Given the description of an element on the screen output the (x, y) to click on. 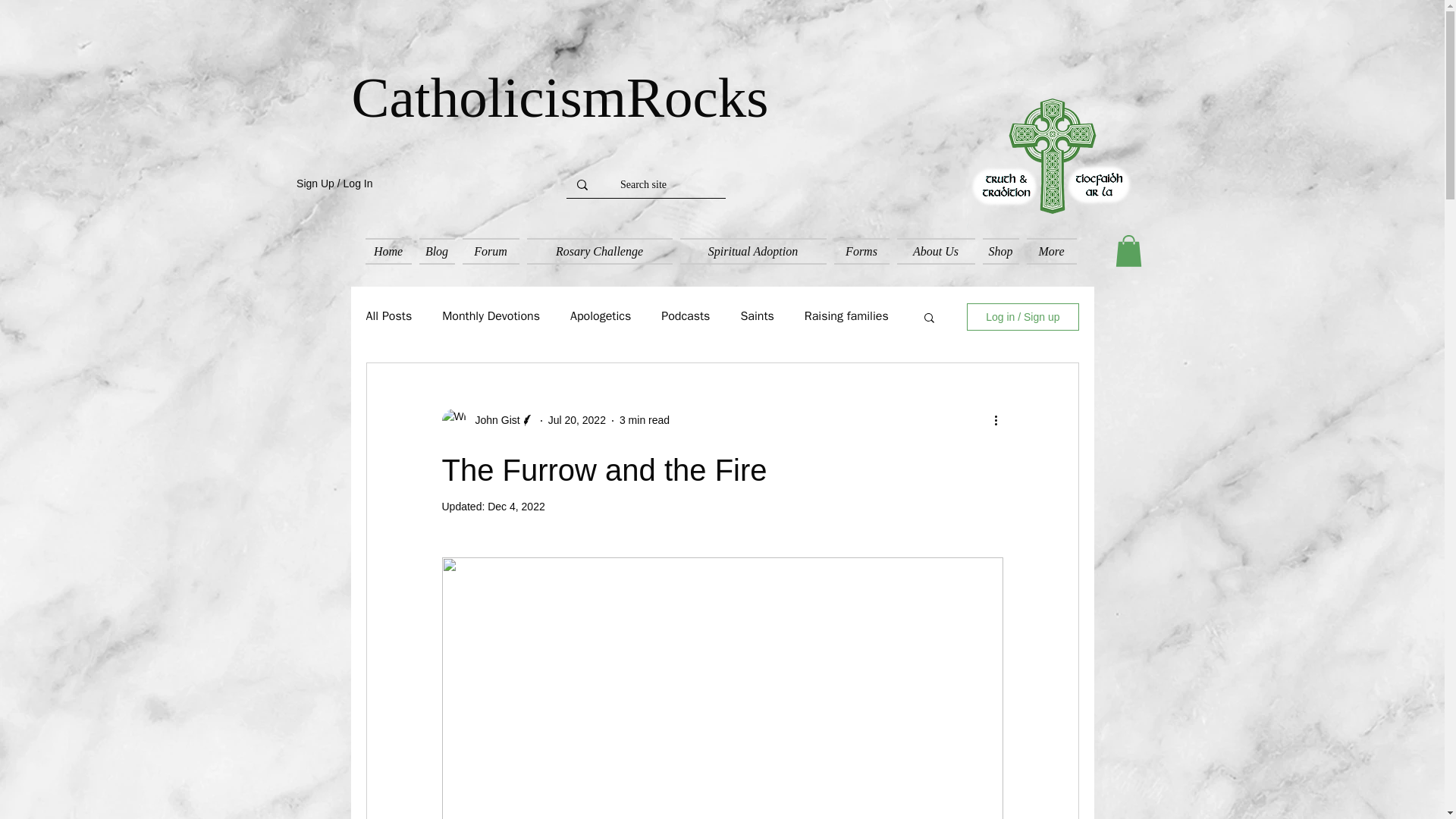
Saints (756, 316)
Podcasts (685, 316)
About Us (935, 251)
John Gist (487, 420)
Shop (1000, 251)
Apologetics (600, 316)
Monthly Devotions (491, 316)
Home (387, 251)
Forum (490, 251)
John Gist (492, 420)
